Given the description of an element on the screen output the (x, y) to click on. 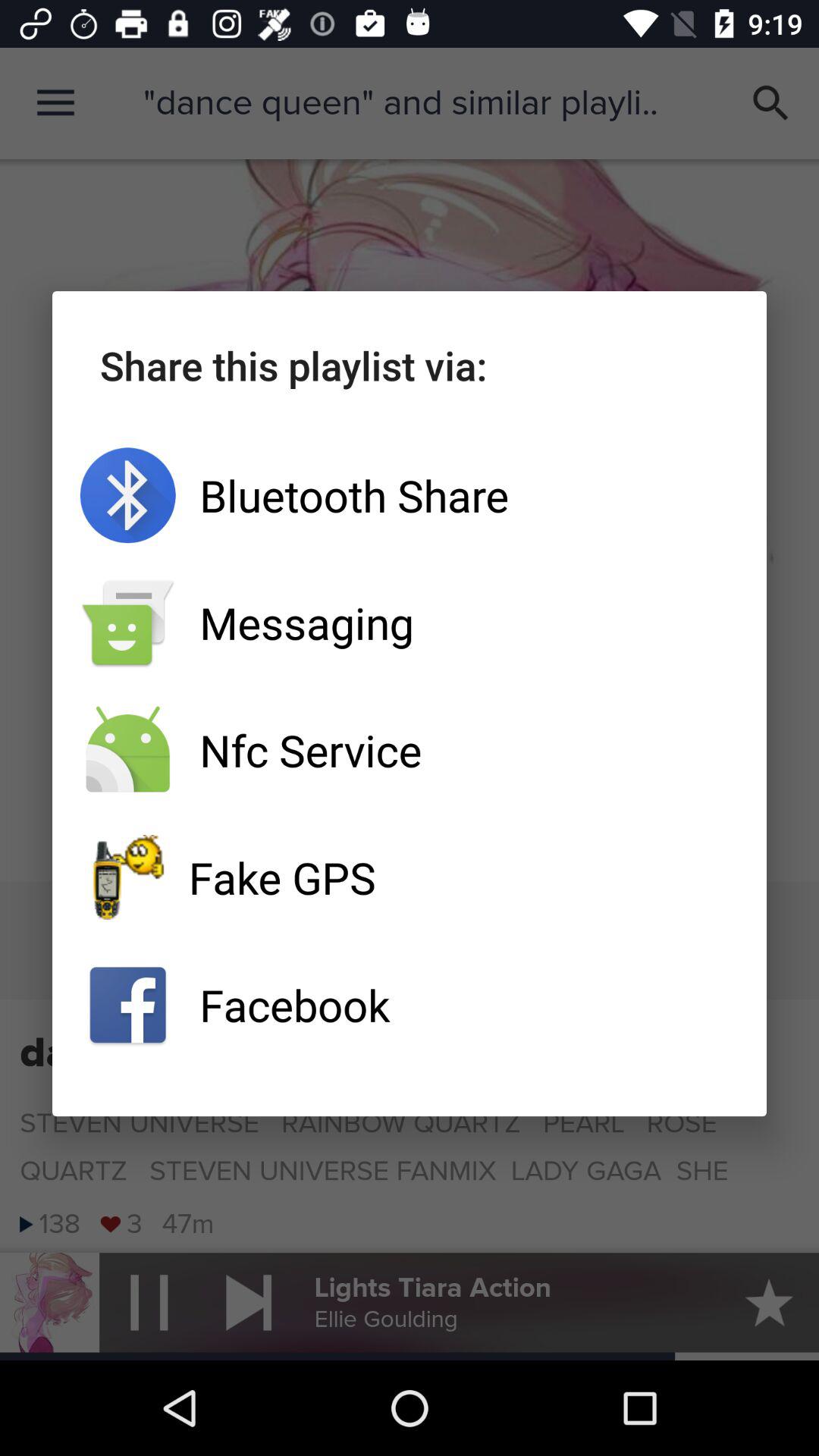
swipe to fake gps app (409, 877)
